Given the description of an element on the screen output the (x, y) to click on. 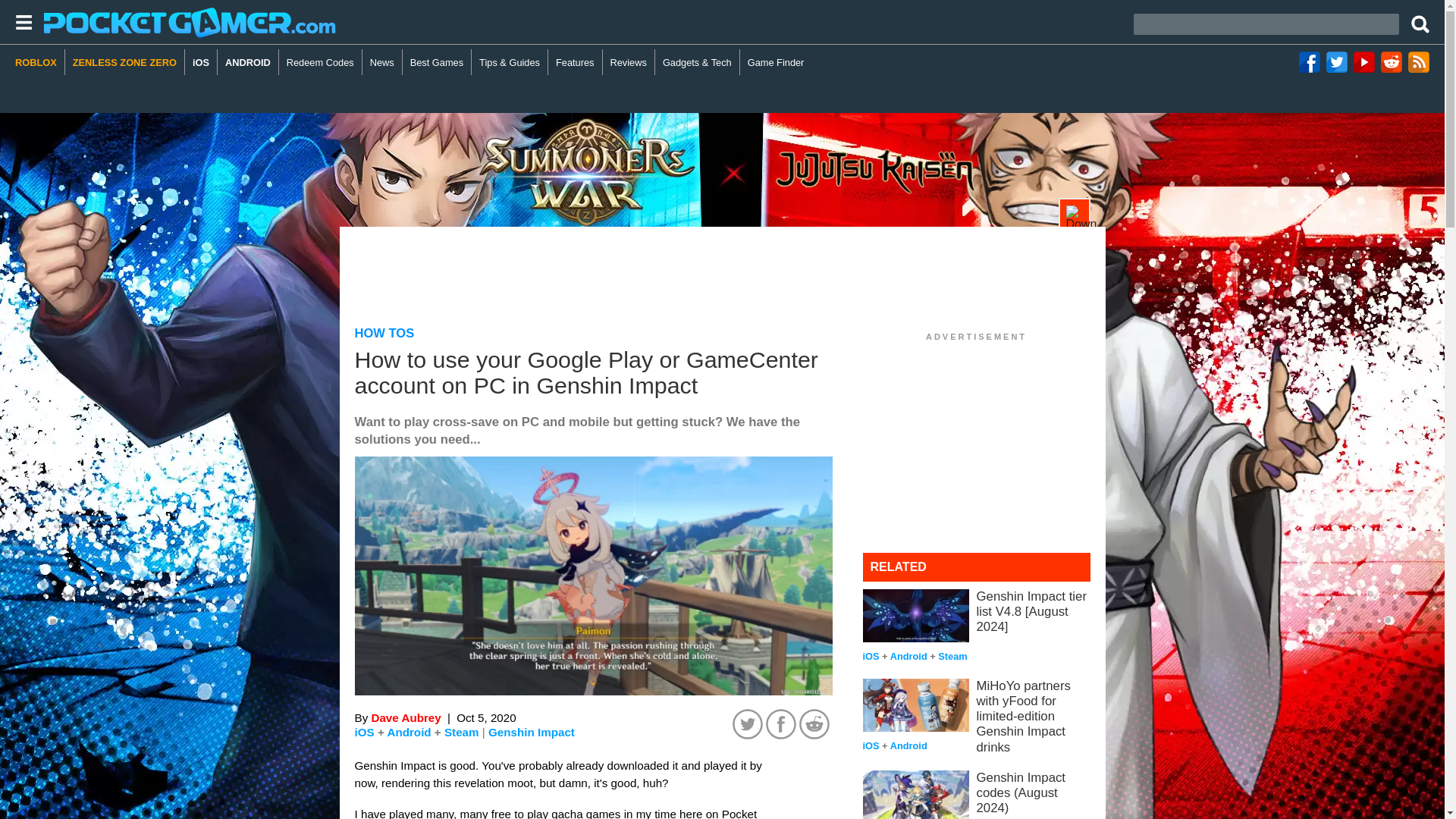
Android (408, 731)
iOS (364, 731)
ROBLOX (39, 62)
HOW TOS (384, 332)
iOS (200, 62)
Features (575, 62)
Best Games (437, 62)
Steam (461, 731)
Reviews (628, 62)
ANDROID (247, 62)
